Given the description of an element on the screen output the (x, y) to click on. 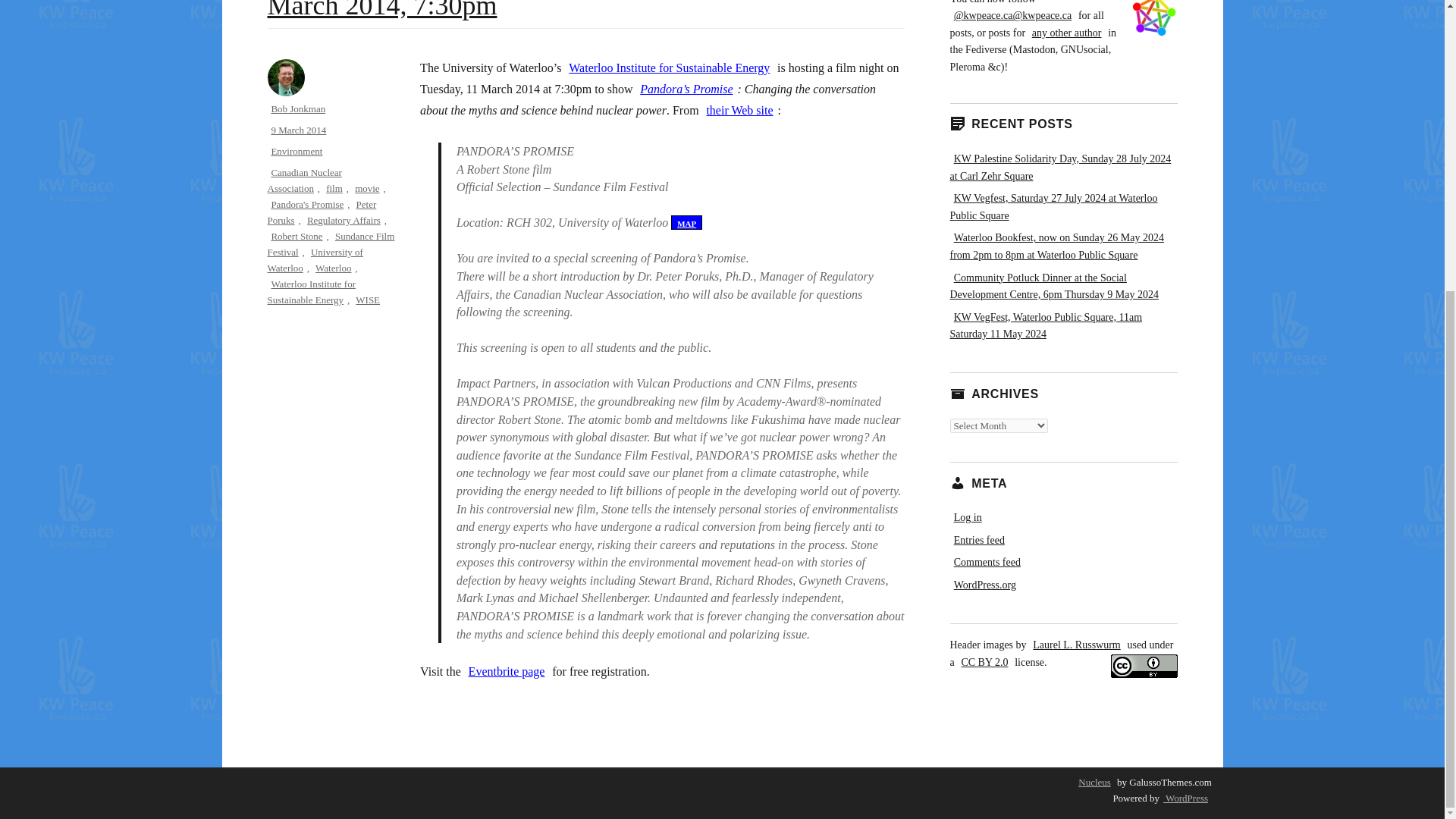
Pandora's Promise (306, 204)
Waterloo Institute for Sustainable Energy (310, 291)
Waterloo Institute for Sustainable Energy (669, 67)
OpenStreetMap: J.R. Coutts Engineering Lecture Hall (686, 222)
film (333, 187)
Waterloo (333, 267)
Eventbrite page (506, 671)
9 March 2014 (298, 129)
Environment (296, 151)
Peter Poruks (320, 212)
